Given the description of an element on the screen output the (x, y) to click on. 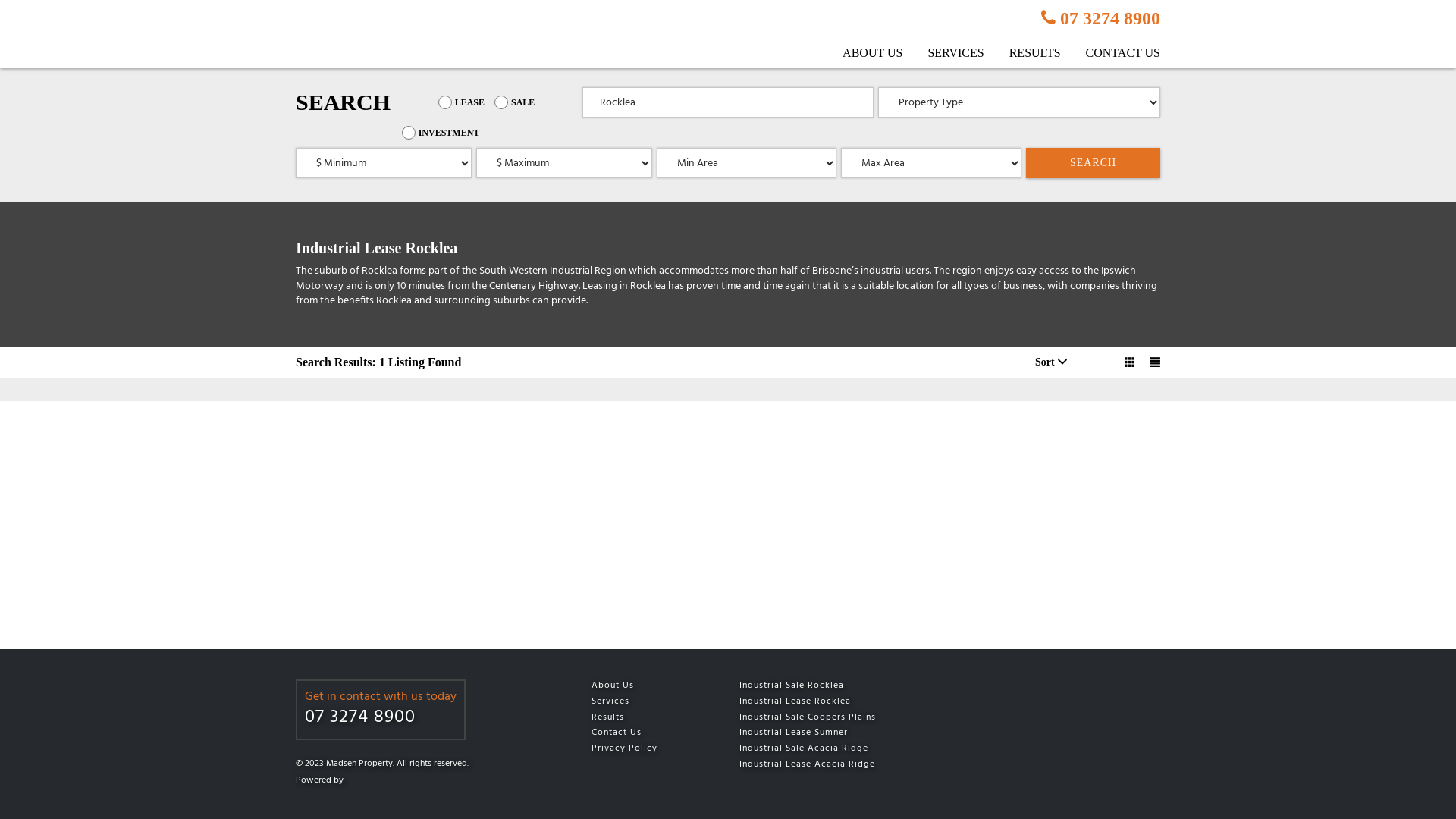
CONTACT US Element type: text (1111, 52)
About Us Element type: text (644, 685)
Industrial Sale Rocklea Element type: text (838, 685)
SERVICES Element type: text (943, 52)
Industrial Sale Coopers Plains Element type: text (838, 717)
Privacy Policy Element type: text (644, 748)
Industrial Sale Acacia Ridge Element type: text (838, 748)
ABOUT US Element type: text (860, 52)
Sort Element type: text (1051, 361)
Industrial Lease Sumner Element type: text (838, 732)
Contact Us Element type: text (644, 732)
07 3274 8900 Element type: text (380, 718)
Powered by Element type: text (431, 779)
RESULTS Element type: text (1023, 52)
Industrial Lease Rocklea Element type: text (838, 701)
Industrial Lease Acacia Ridge Element type: text (838, 764)
07 3274 8900 Element type: text (1100, 18)
Services Element type: text (644, 701)
Results Element type: text (644, 717)
SEARCH Element type: text (1093, 162)
